Given the description of an element on the screen output the (x, y) to click on. 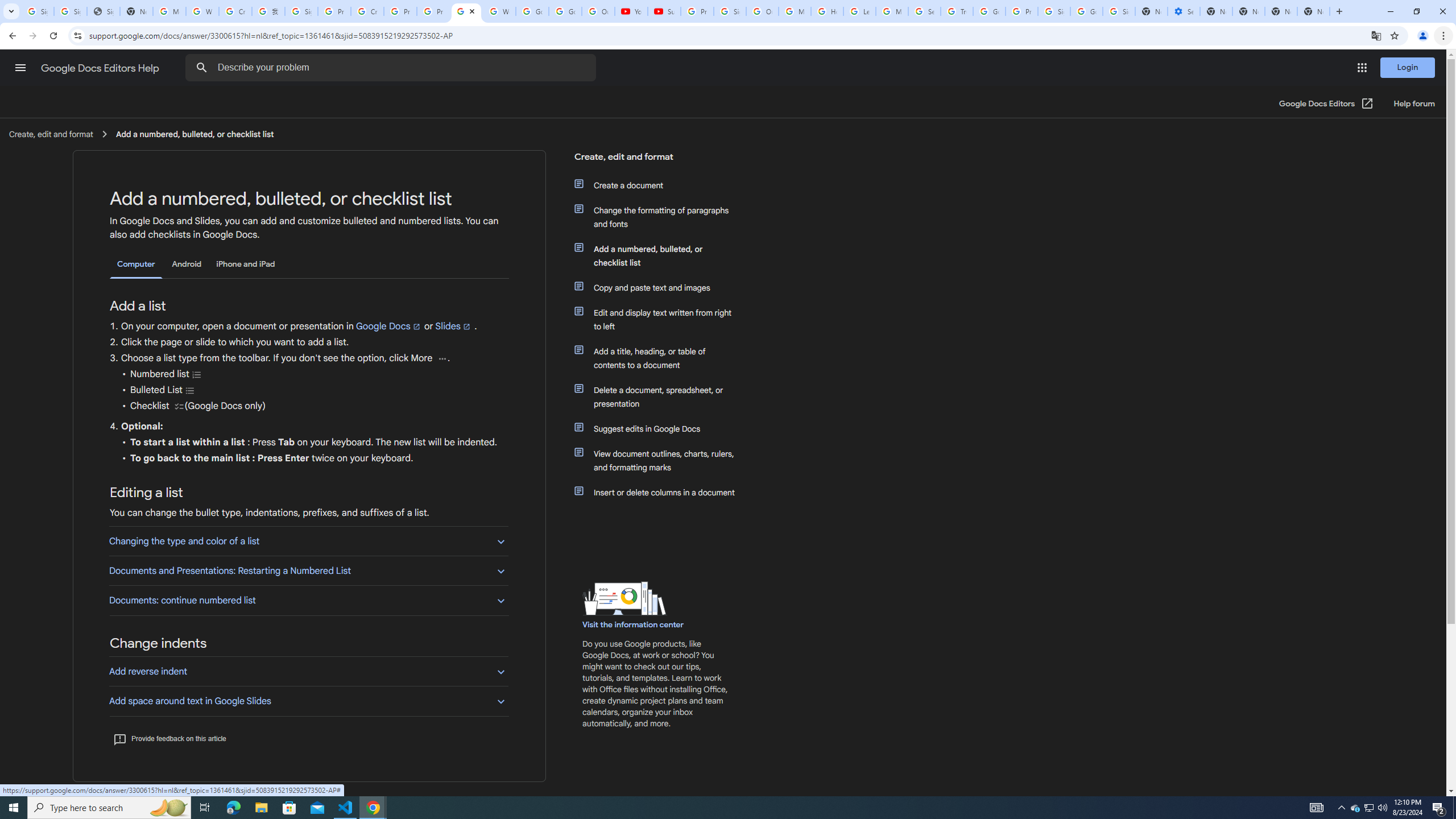
Subscriptions - YouTube (663, 11)
Welcome to My Activity (499, 11)
Create, edit and format (656, 160)
Create a document (661, 185)
Insert or delete columns in a document (661, 492)
Sign in - Google Accounts (70, 11)
Sign in - Google Accounts (1053, 11)
